Given the description of an element on the screen output the (x, y) to click on. 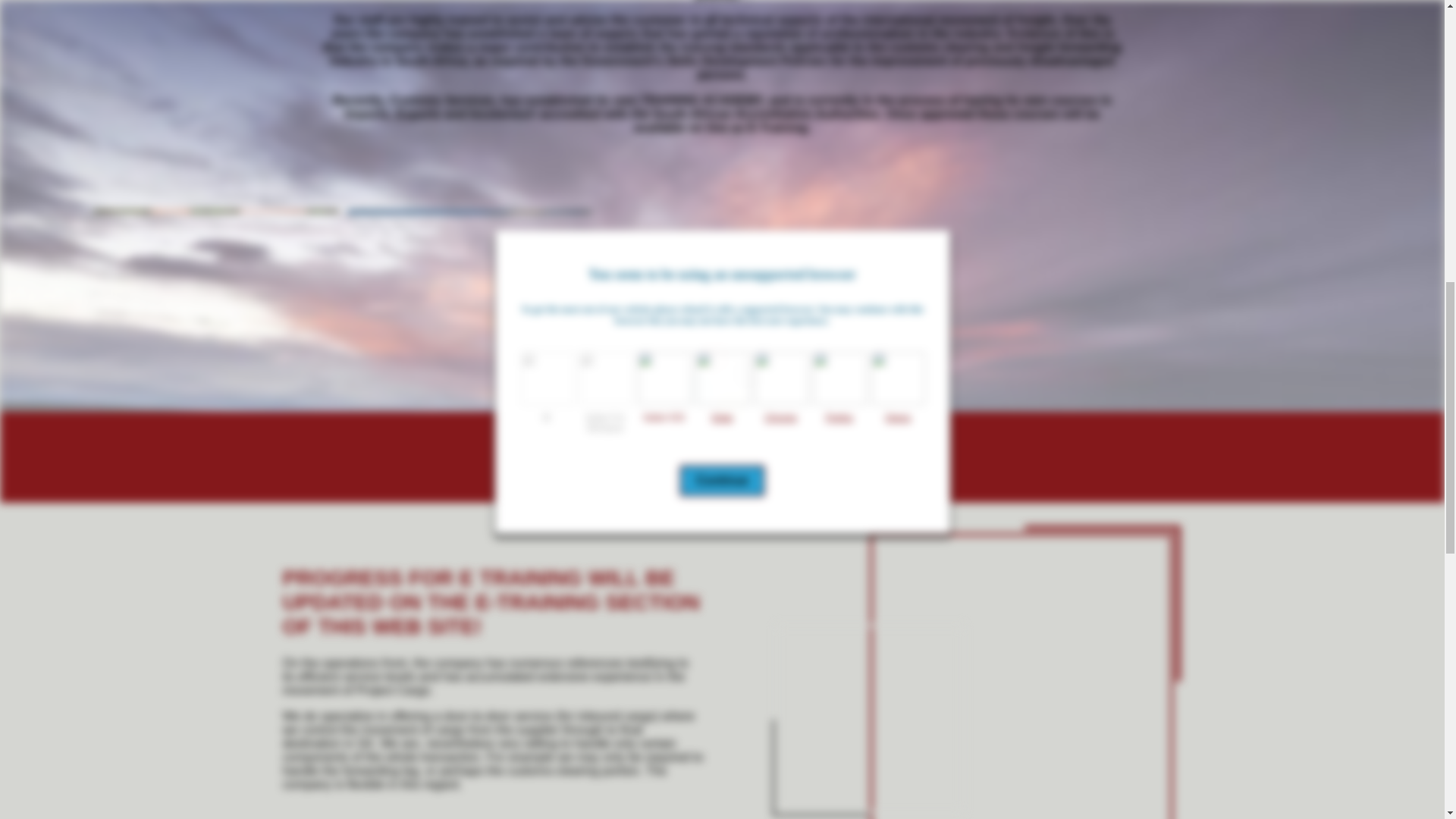
slider1-silc (868, 718)
SEA (721, 332)
AIR (469, 332)
CONTACT (1228, 332)
ROAD (974, 332)
SHIPPING-PHO (1021, 677)
TEAMMEET (216, 332)
